Given the description of an element on the screen output the (x, y) to click on. 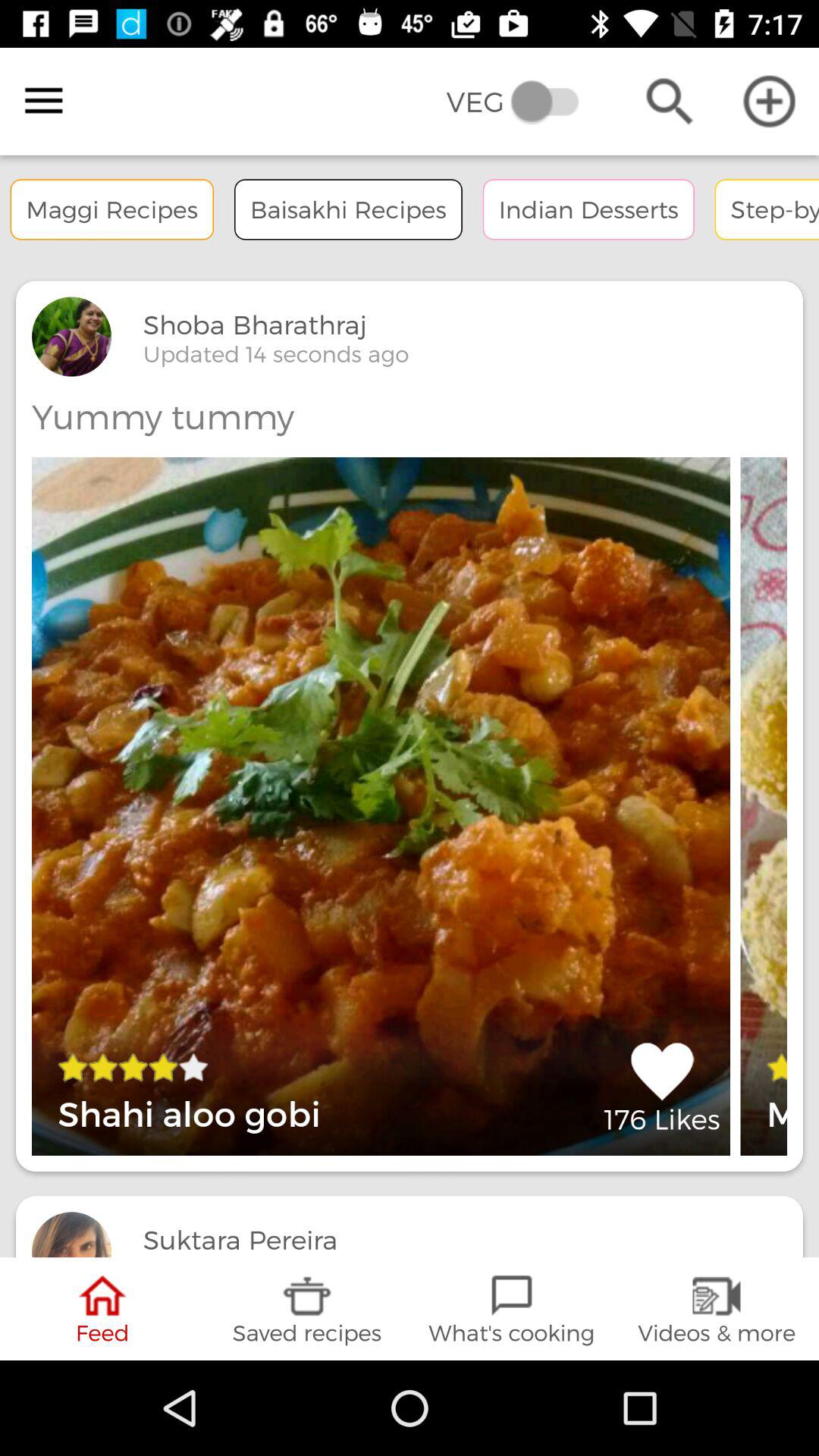
swipe to the what's cooking (511, 1308)
